Given the description of an element on the screen output the (x, y) to click on. 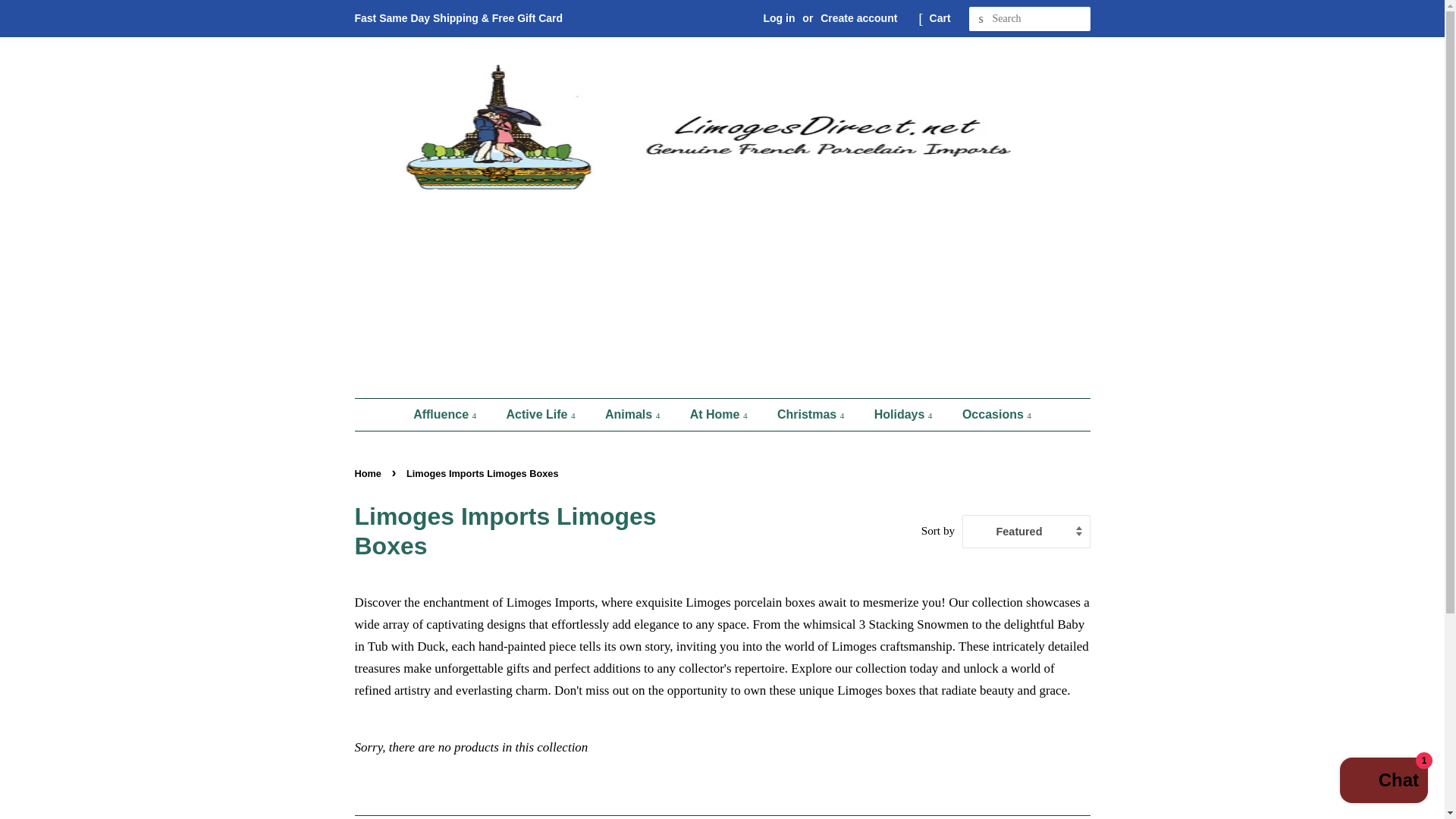
Back to the frontpage (370, 473)
Cart (940, 18)
Create account (858, 18)
Search (980, 18)
Log in (778, 18)
Shopify online store chat (1383, 781)
